Given the description of an element on the screen output the (x, y) to click on. 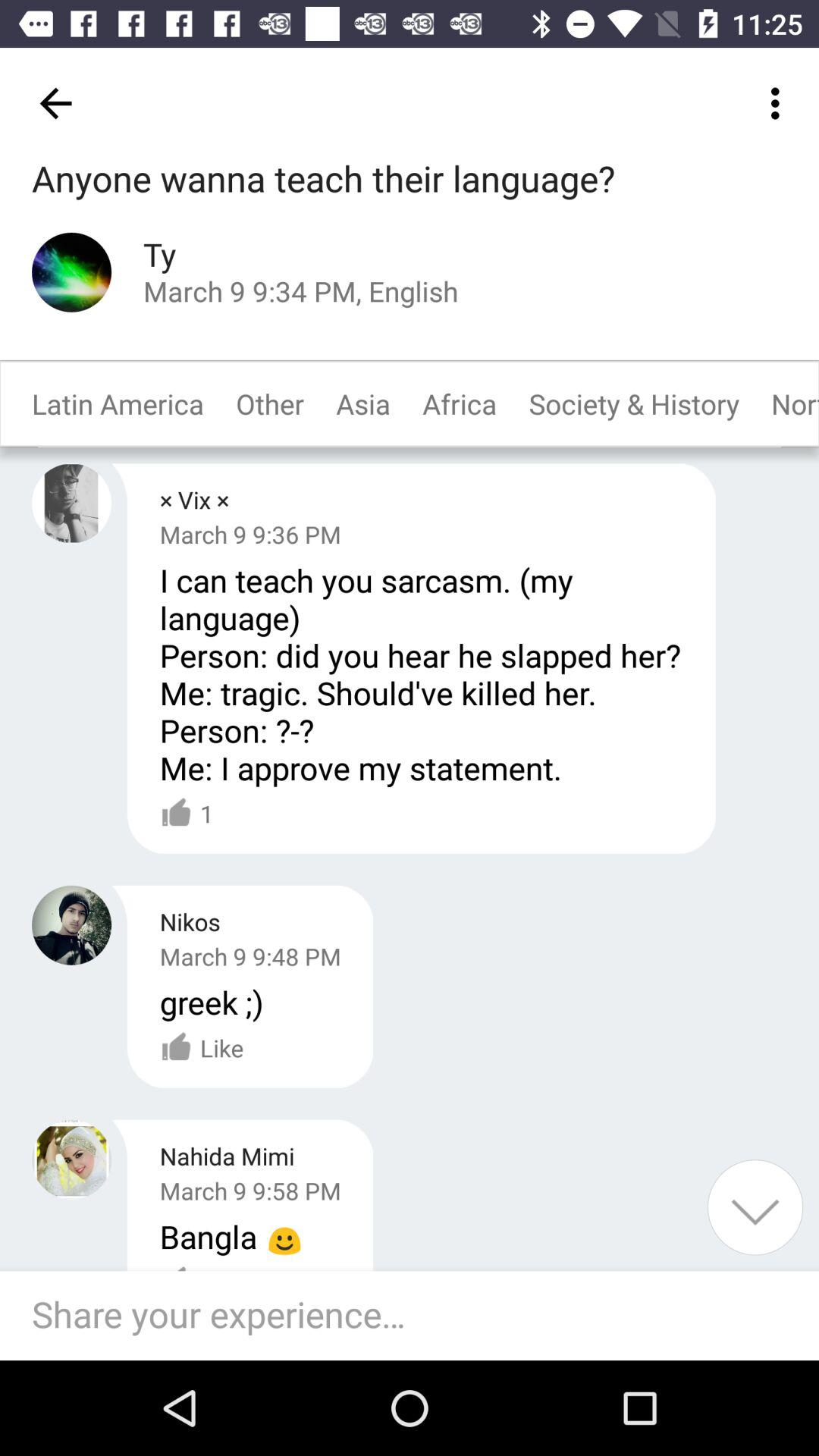
choose item above the nikos (186, 813)
